Given the description of an element on the screen output the (x, y) to click on. 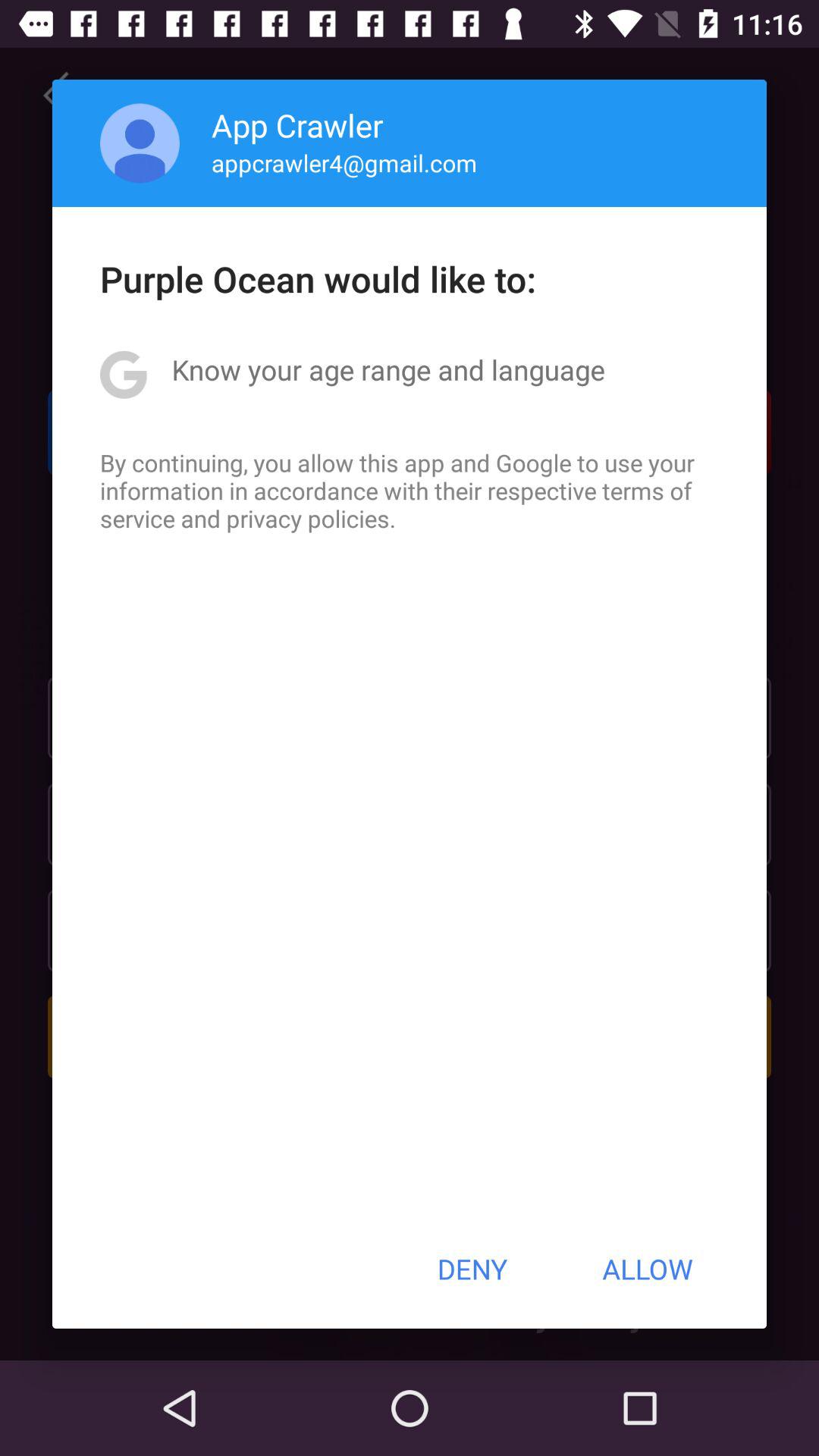
turn on app to the left of app crawler icon (139, 143)
